Given the description of an element on the screen output the (x, y) to click on. 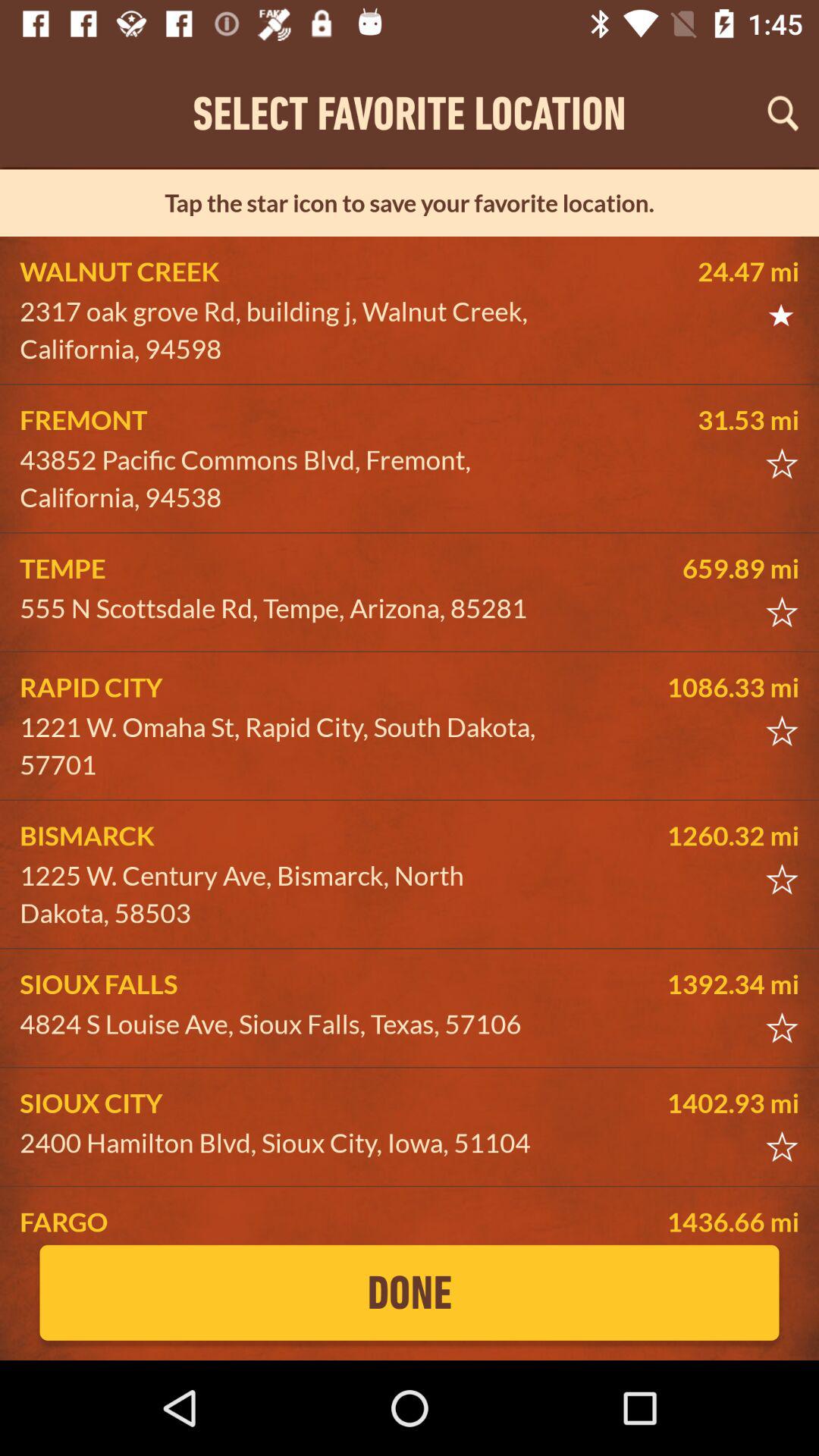
swipe to the 1260.32 mi icon (685, 835)
